Given the description of an element on the screen output the (x, y) to click on. 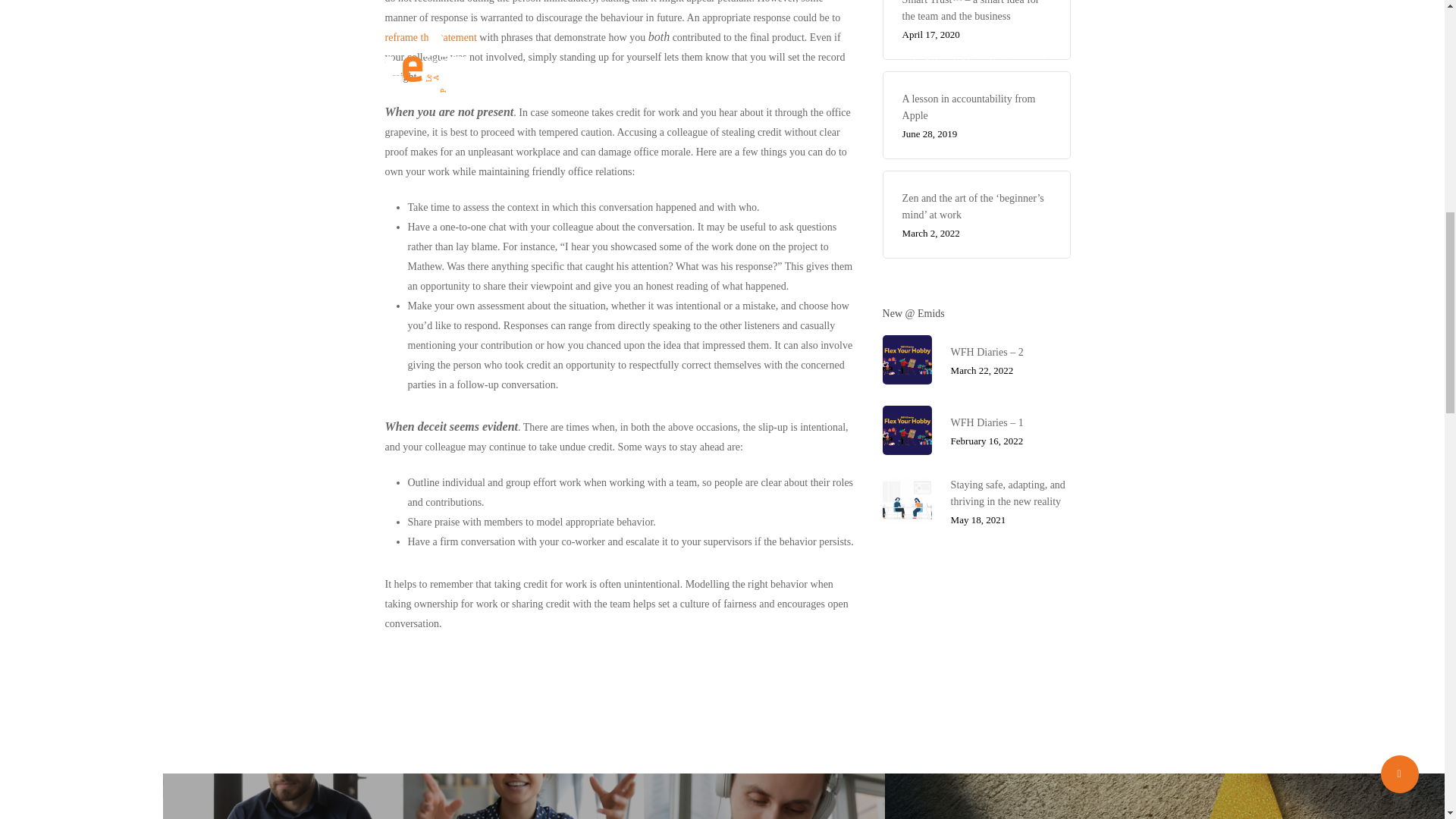
reframe the statement (431, 37)
